Given the description of an element on the screen output the (x, y) to click on. 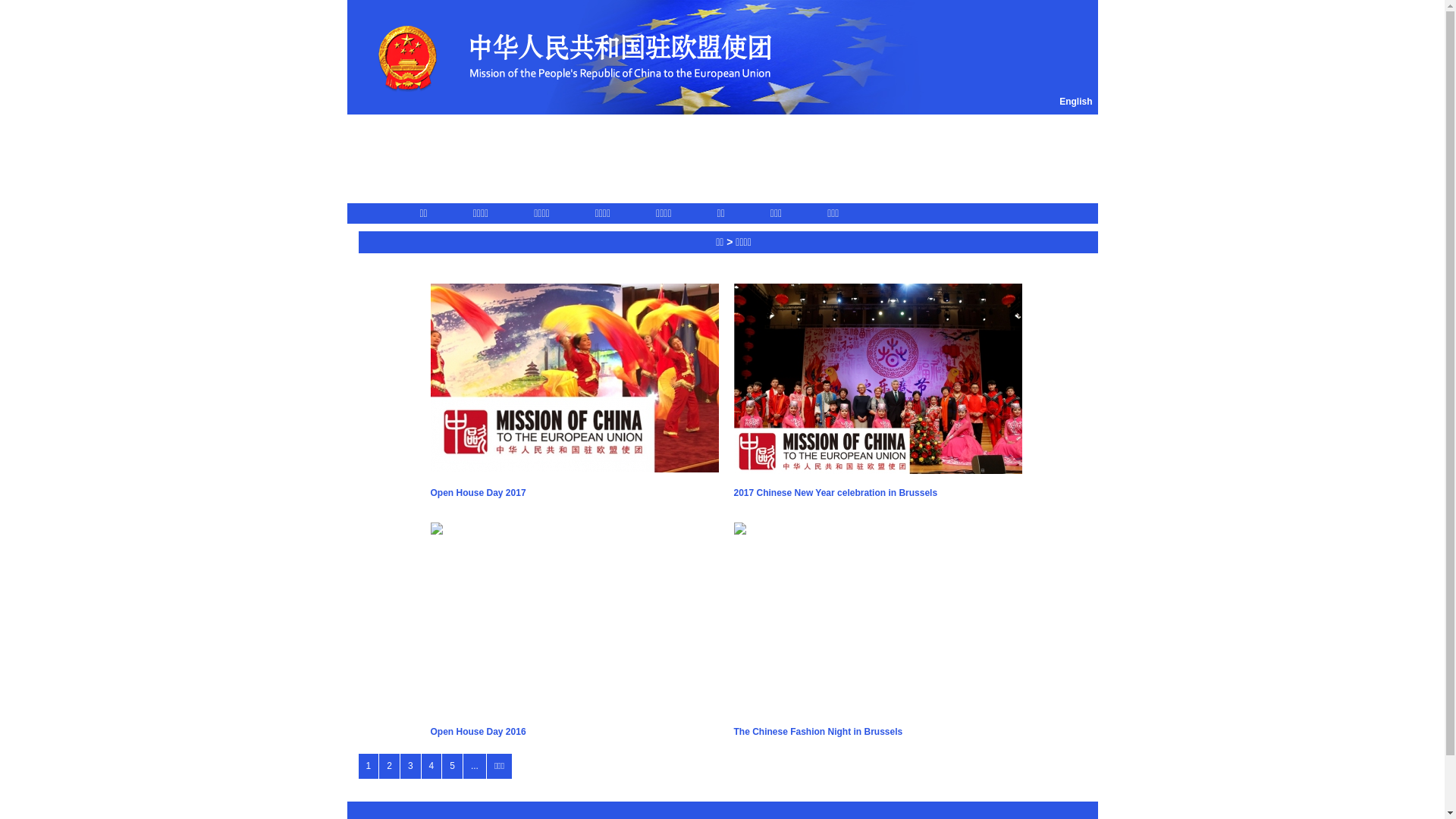
4 Element type: text (431, 765)
Open House Day 2017 Element type: text (574, 493)
2 Element type: text (389, 765)
English Element type: text (1075, 101)
5 Element type: text (452, 765)
The Chinese Fashion Night in Brussels Element type: text (878, 731)
Open House Day 2016 Element type: text (574, 731)
3 Element type: text (410, 765)
2017 Chinese New Year celebration in Brussels Element type: text (878, 493)
